Given the description of an element on the screen output the (x, y) to click on. 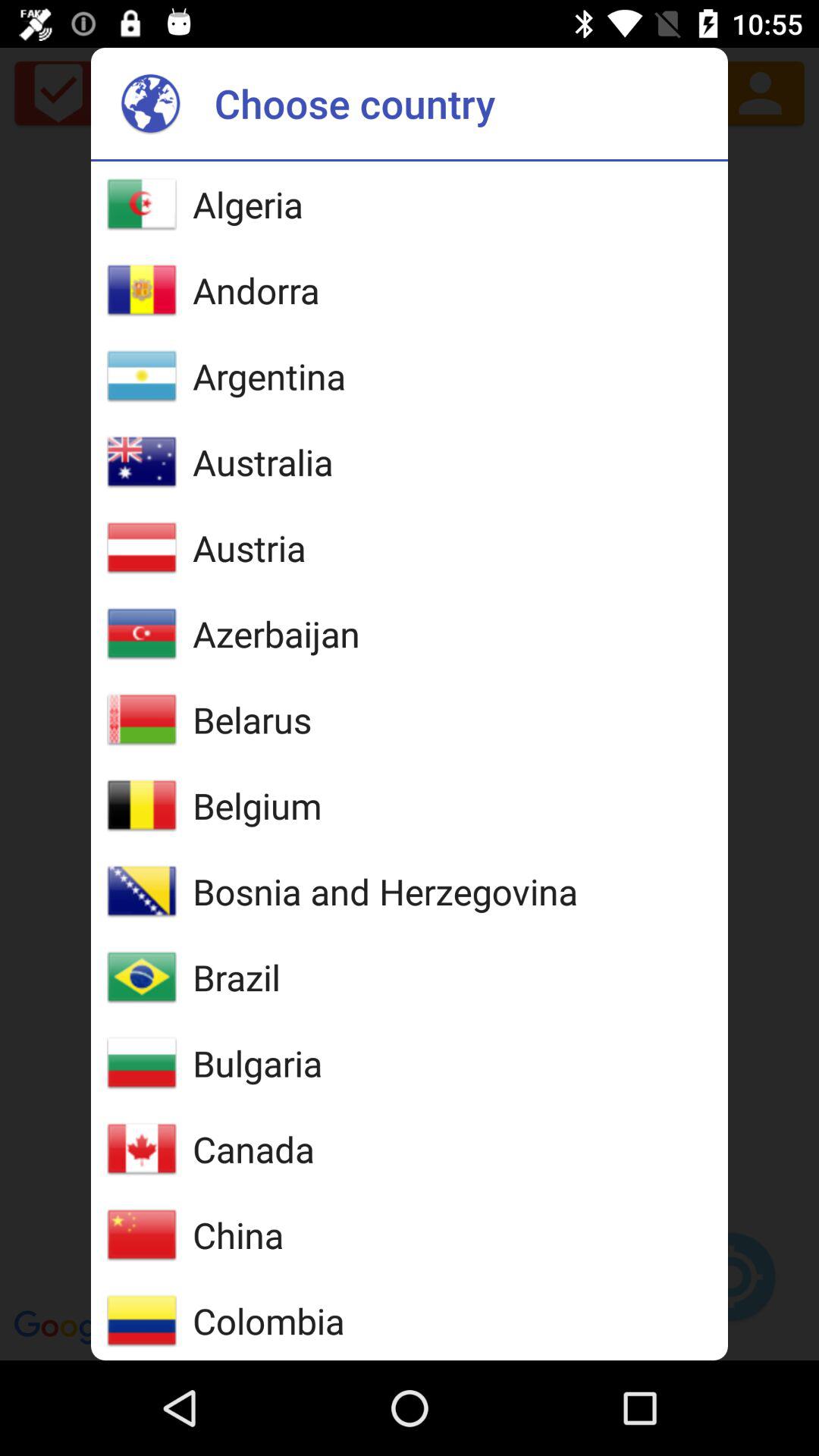
tap item above bulgaria item (236, 977)
